Given the description of an element on the screen output the (x, y) to click on. 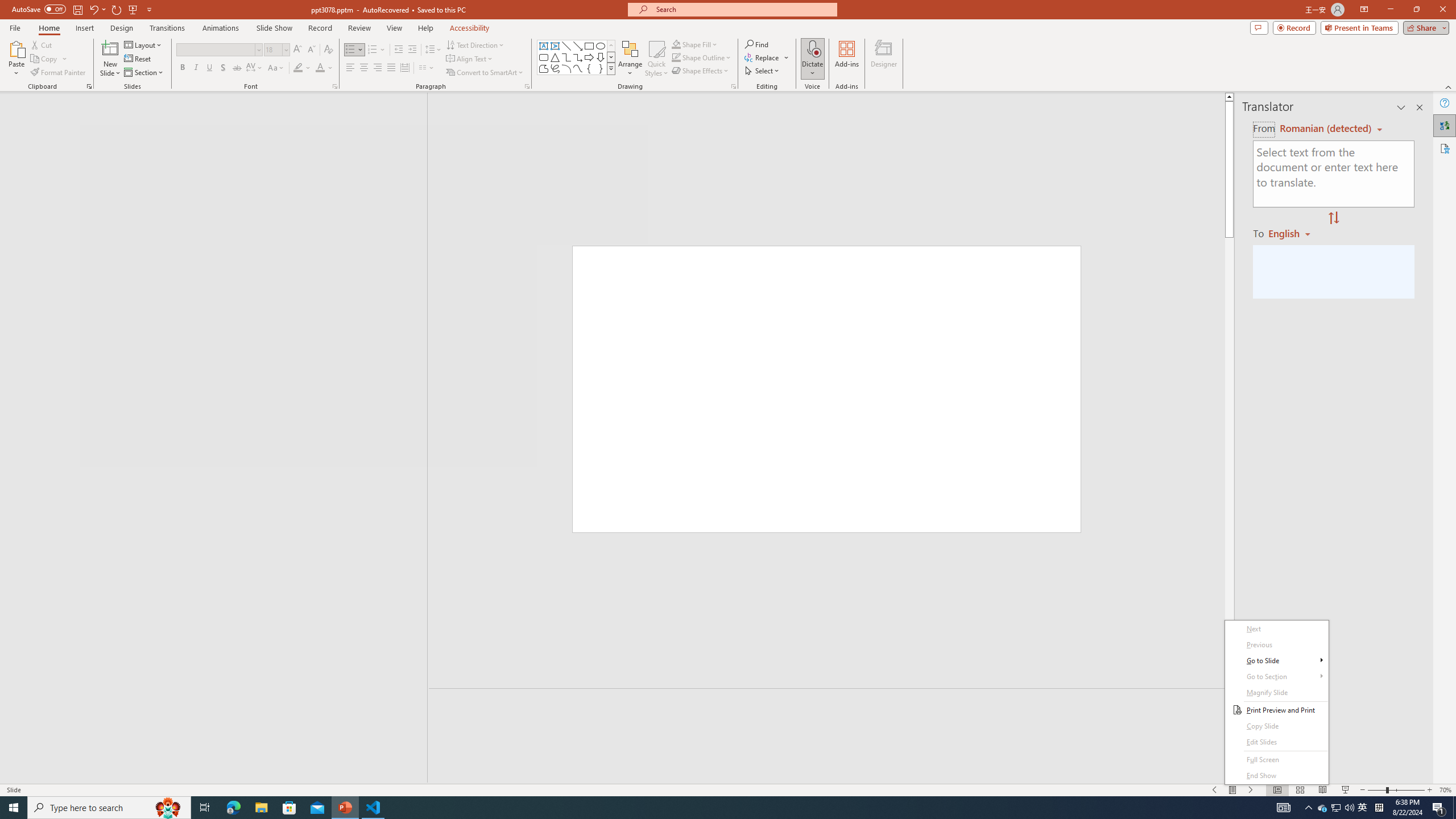
Class: NetUITWMenuContainer (1322, 807)
